Given the description of an element on the screen output the (x, y) to click on. 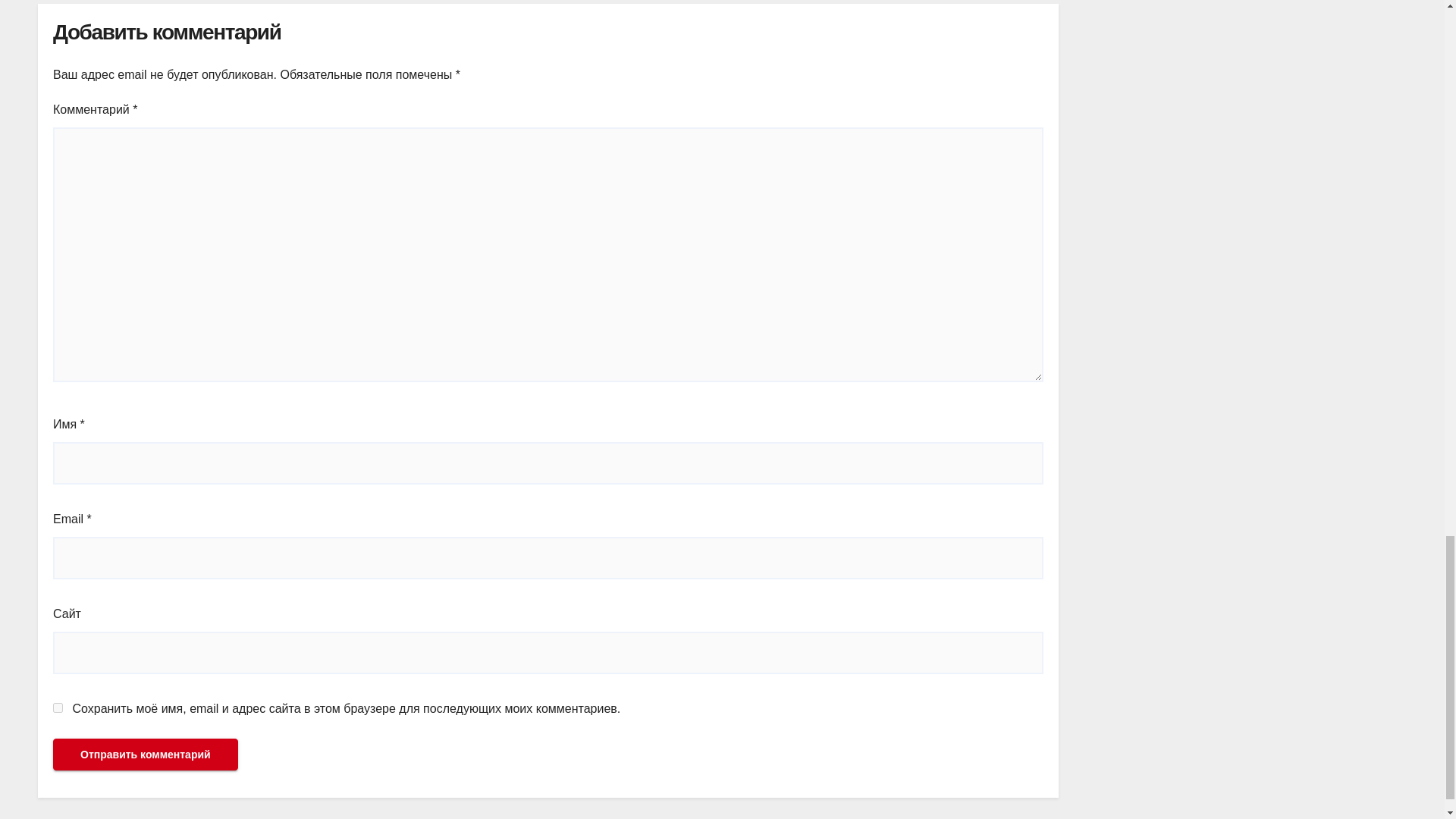
yes (57, 707)
